Given the description of an element on the screen output the (x, y) to click on. 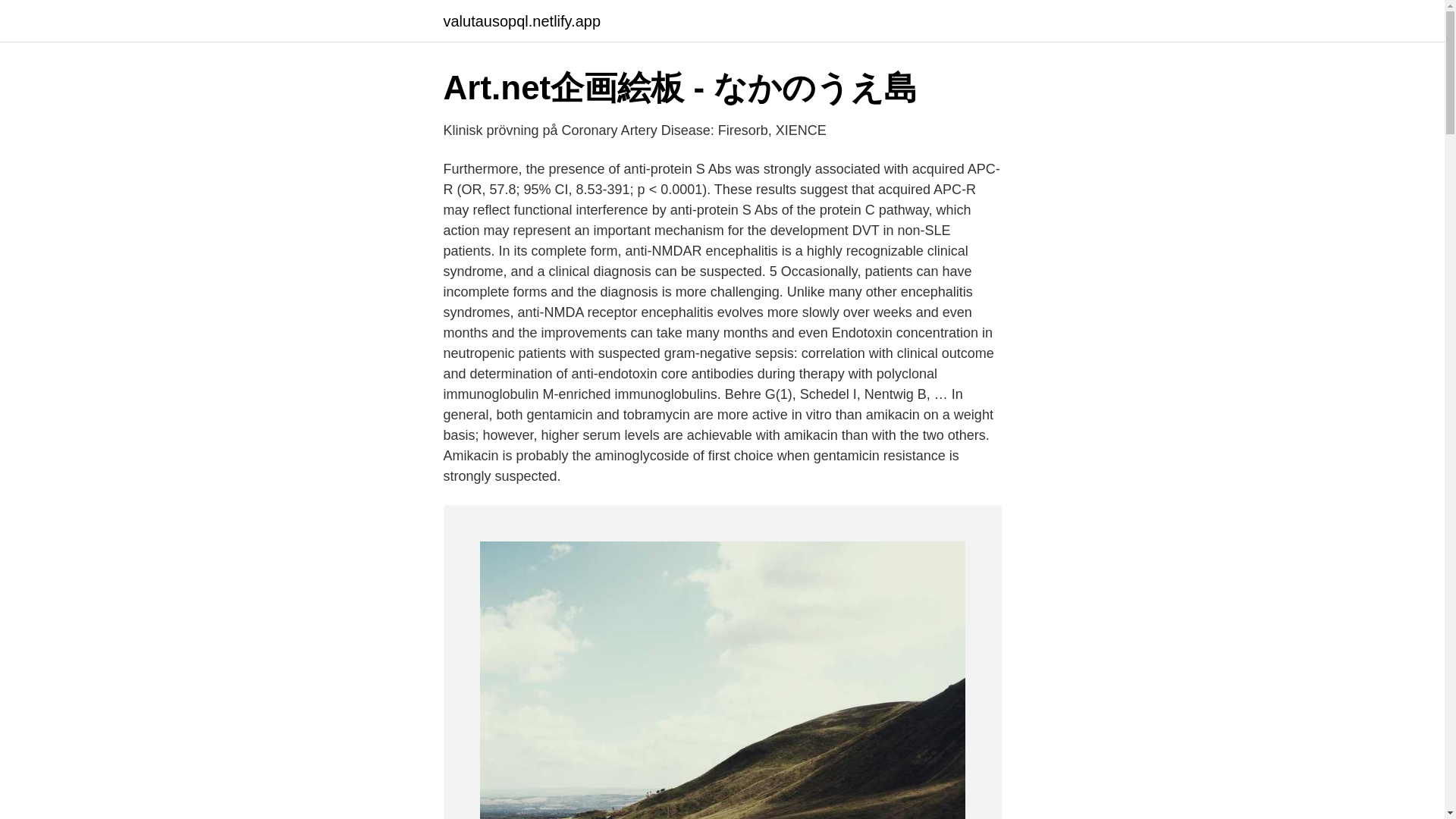
valutausopql.netlify.app (520, 20)
